Given the description of an element on the screen output the (x, y) to click on. 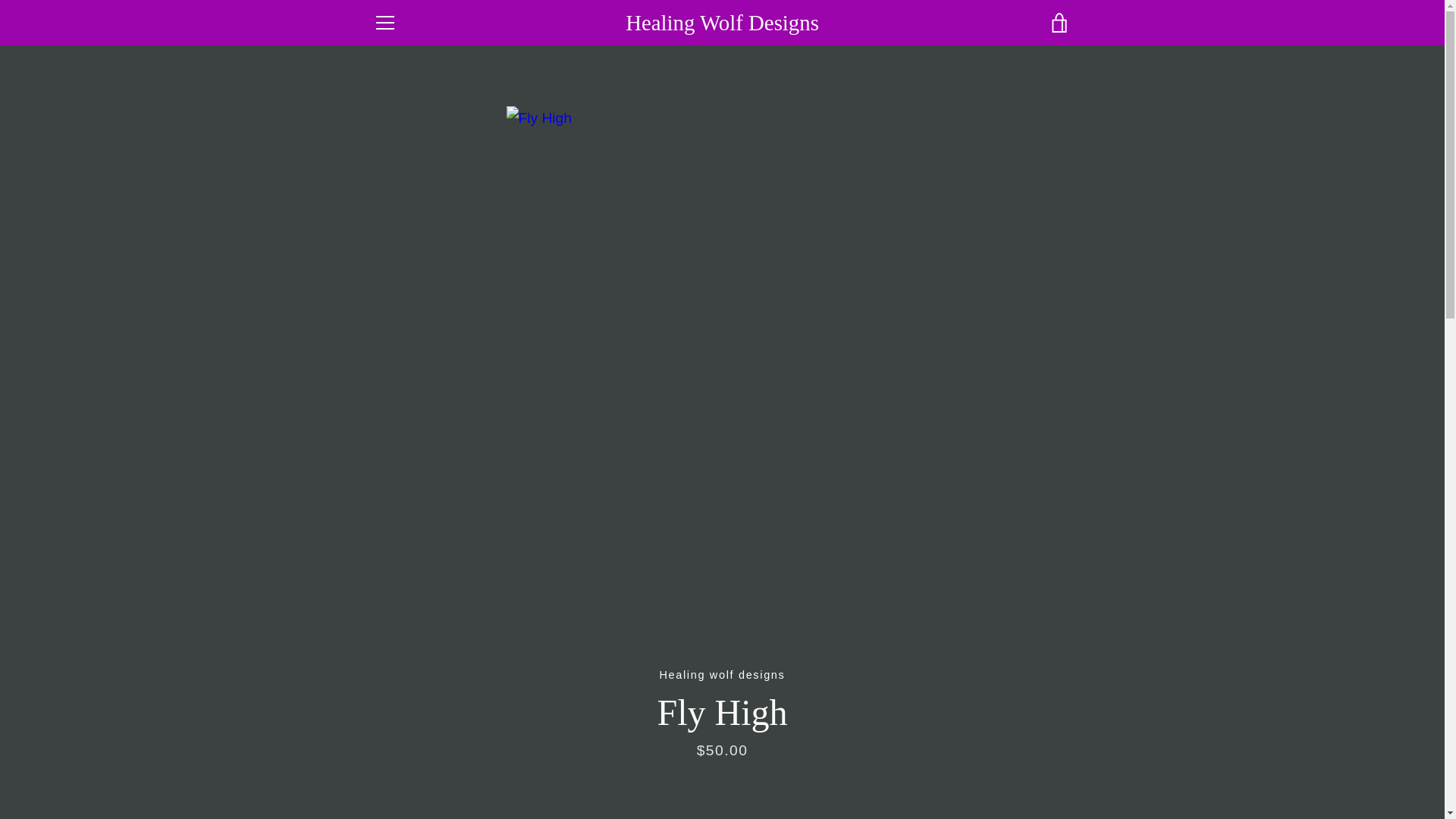
SEARCH (397, 573)
Shop Pay (988, 778)
Apple Pay (918, 754)
Visa (1057, 778)
Mastercard (918, 778)
Venmo (1022, 778)
Healing Wolf Designs (769, 753)
Facebook (372, 764)
SUBSCRIBE (1023, 675)
MENU (384, 22)
American Express (883, 754)
Meta Pay (1022, 754)
PayPal (953, 778)
Powered by Shopify (721, 777)
